Given the description of an element on the screen output the (x, y) to click on. 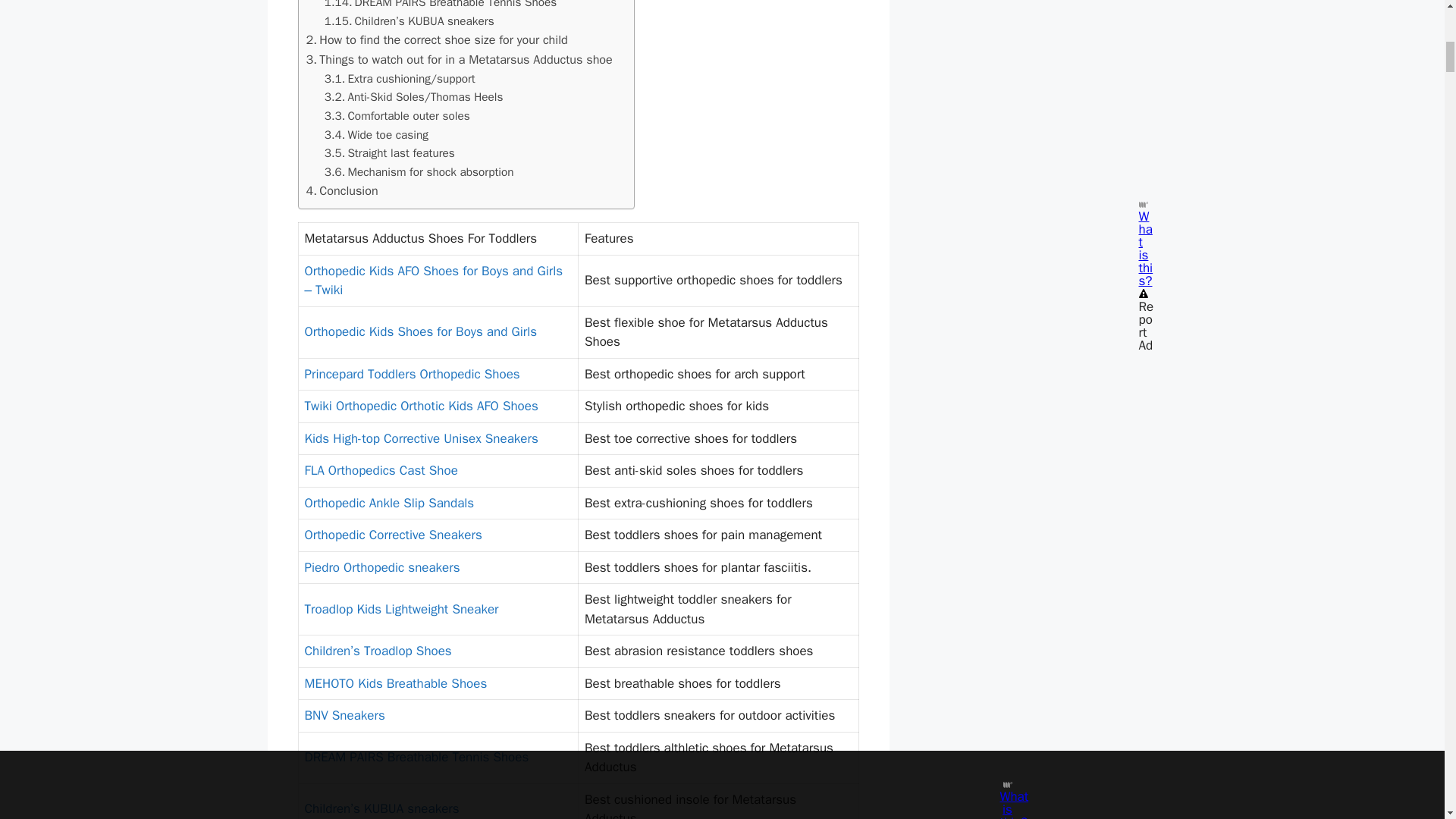
Straight last features (389, 153)
Wide toe casing (376, 135)
Mechanism for shock absorption (418, 171)
DREAM PAIRS Breathable Tennis Shoes (440, 6)
Things to watch out for in a Metatarsus Adductus shoe (458, 59)
Comfortable outer soles (397, 116)
How to find the correct shoe size for your child (436, 39)
Conclusion (341, 190)
